Given the description of an element on the screen output the (x, y) to click on. 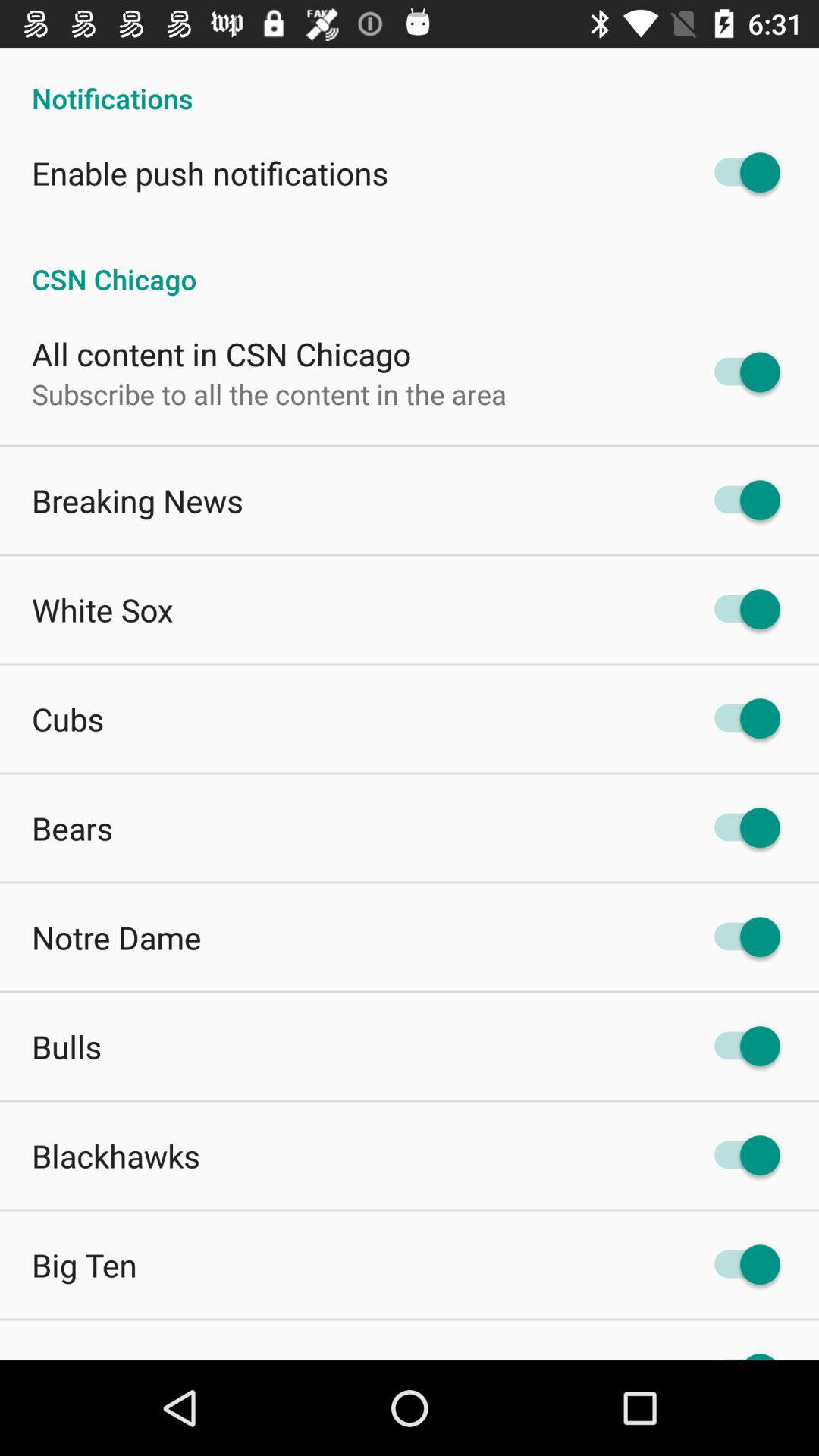
scroll to enable push notifications item (209, 172)
